Given the description of an element on the screen output the (x, y) to click on. 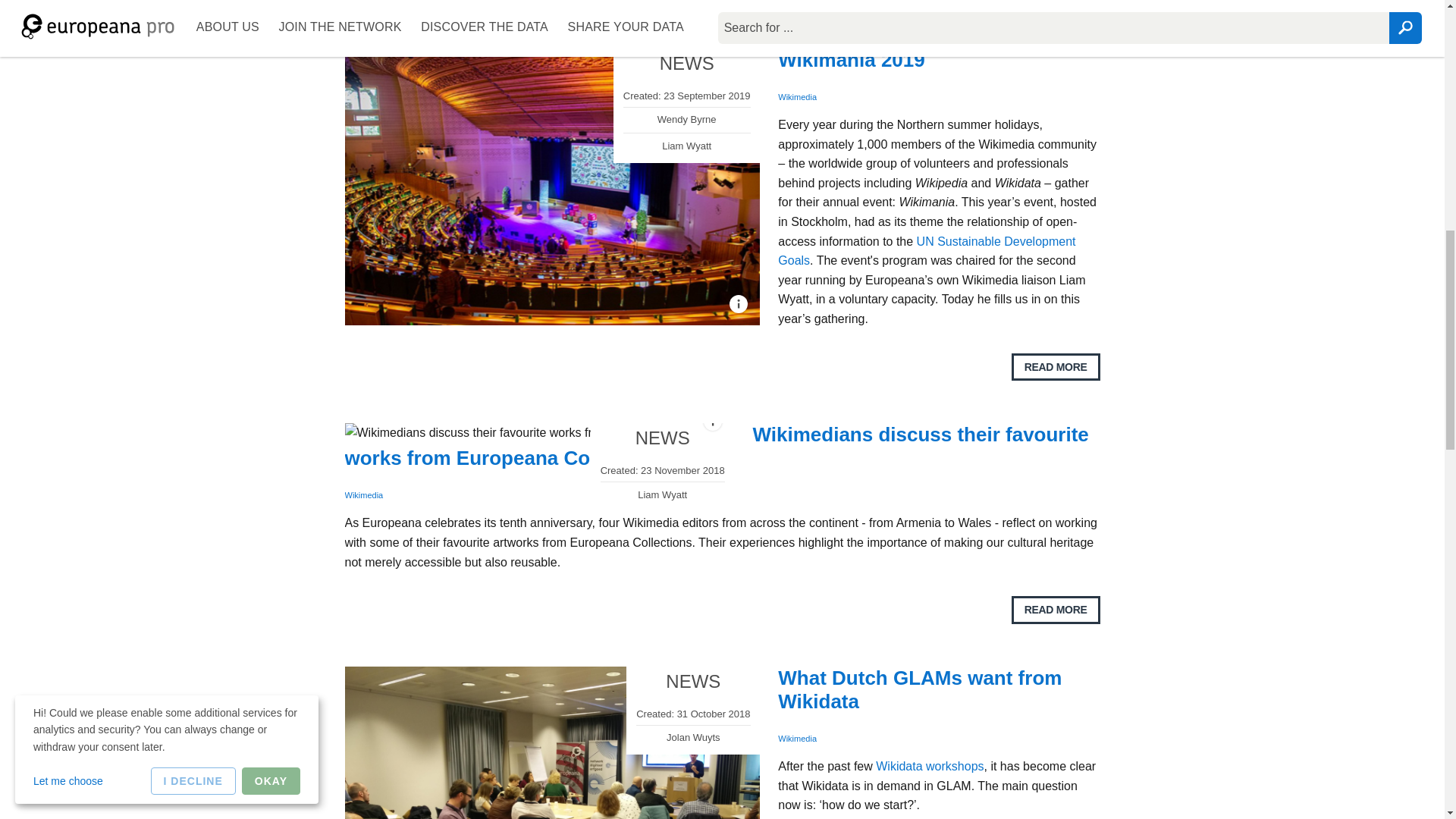
READ MORE (1055, 2)
READ MORE (1055, 610)
UN Sustainable Development Goals (926, 251)
Wikimania 2019 (850, 59)
READ MORE (1055, 366)
Wikimedia (796, 96)
Wikimedia (362, 494)
